Given the description of an element on the screen output the (x, y) to click on. 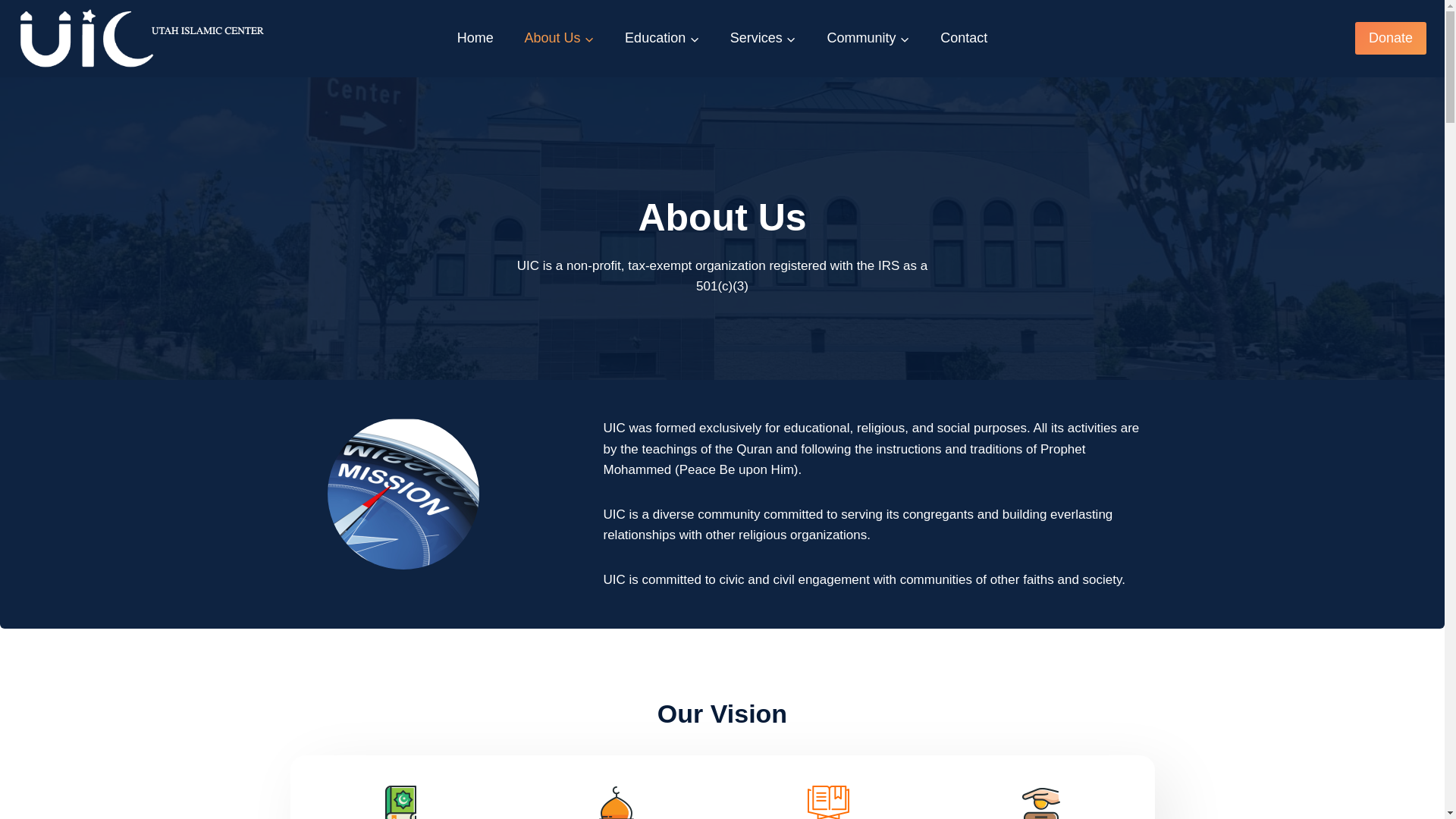
About Us (559, 38)
Services (762, 38)
Contact (963, 38)
Community (867, 38)
Home (474, 38)
Education (662, 38)
Donate (1390, 38)
